Given the description of an element on the screen output the (x, y) to click on. 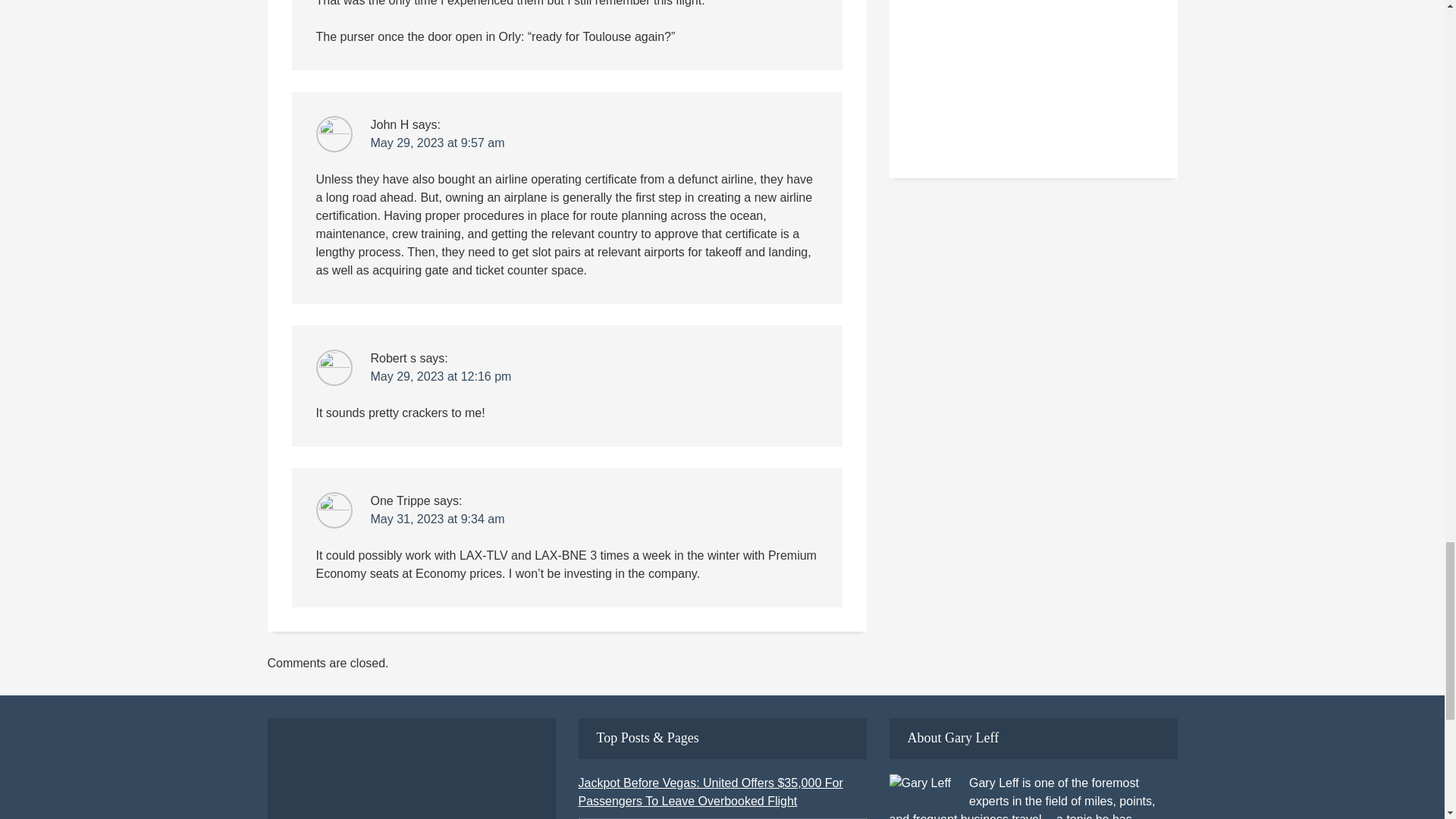
May 29, 2023 at 9:57 am (436, 142)
